Given the description of an element on the screen output the (x, y) to click on. 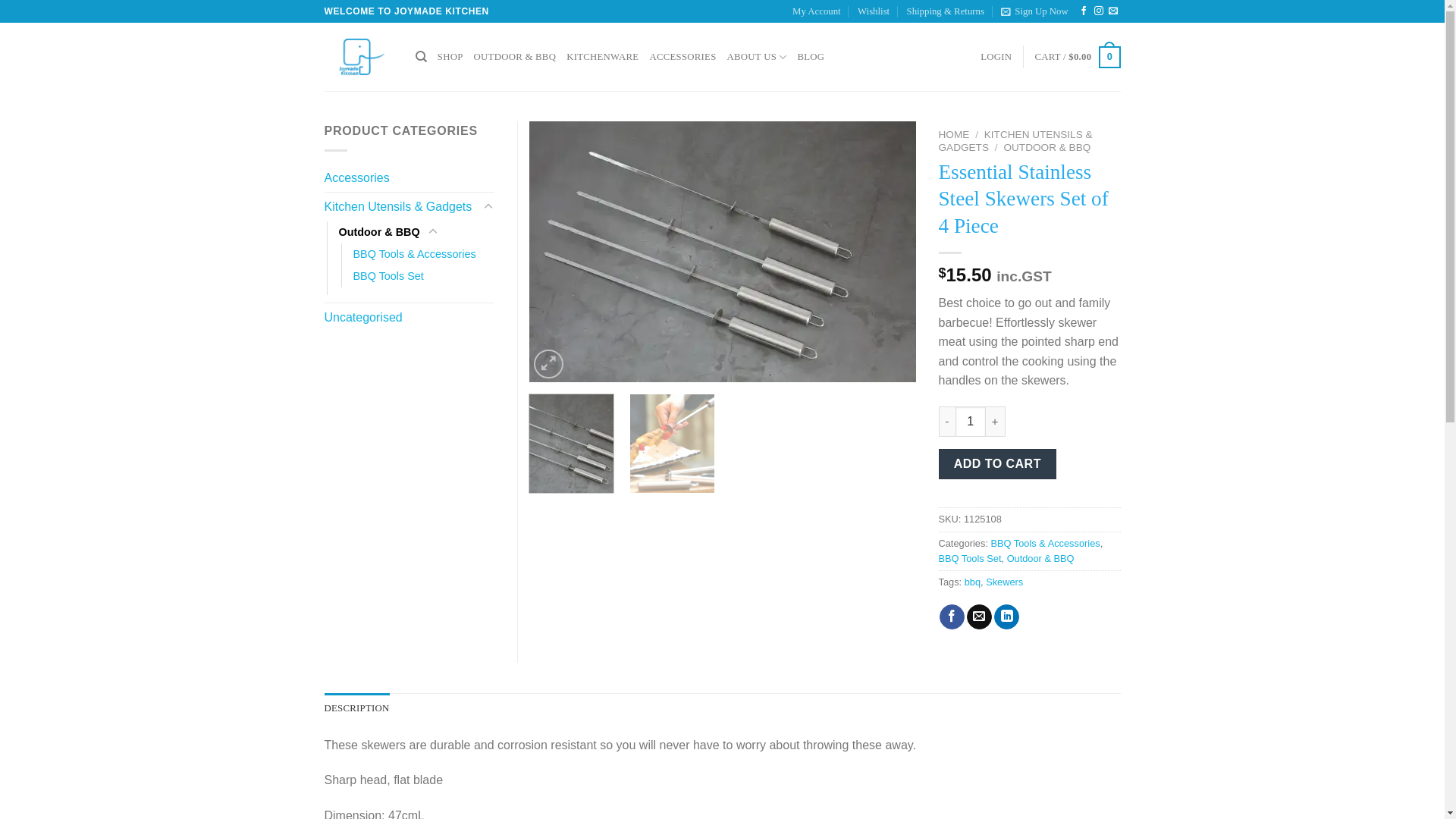
KITCHENWARE Element type: text (602, 56)
Share on Facebook Element type: hover (951, 617)
ADD TO CART Element type: text (997, 463)
HOME Element type: text (953, 134)
BBQ Tools & Accessories Element type: text (414, 254)
bbq Element type: text (972, 581)
Kitchen Utensils & Gadgets Element type: text (401, 206)
Wishlist Element type: text (873, 11)
DESCRIPTION Element type: text (356, 708)
Shipping & Returns Element type: text (945, 11)
BBQ Tools & Accessories Element type: text (1044, 542)
CART / $0.00
0 Element type: text (1077, 57)
KITCHEN UTENSILS & GADGETS Element type: text (1015, 140)
BBQ Tools Set Element type: text (388, 276)
Skewers Element type: text (1003, 581)
OUTDOOR & BBQ Element type: text (514, 56)
Zoom Element type: hover (548, 364)
SHOP Element type: text (450, 56)
Send us an email Element type: hover (1112, 11)
LOGIN Element type: text (995, 56)
BBQ Tools Set Element type: text (969, 558)
Accessories Element type: text (409, 177)
Follow on Instagram Element type: hover (1098, 11)
ACCESSORIES Element type: text (682, 56)
Joymade Kitchen - Welcome to visit and shop with us! Element type: hover (358, 56)
OUTDOOR & BBQ Element type: text (1046, 147)
Share on LinkedIn Element type: hover (1006, 617)
My Account Element type: text (816, 11)
Outdoor & BBQ Element type: text (378, 232)
Outdoor & BBQ Element type: text (1040, 558)
Sign Up Now Element type: text (1034, 11)
ABOUT US Element type: text (757, 56)
Uncategorised Element type: text (409, 317)
Follow on Facebook Element type: hover (1083, 11)
Email to a Friend Element type: hover (978, 617)
BLOG Element type: text (810, 56)
